Given the description of an element on the screen output the (x, y) to click on. 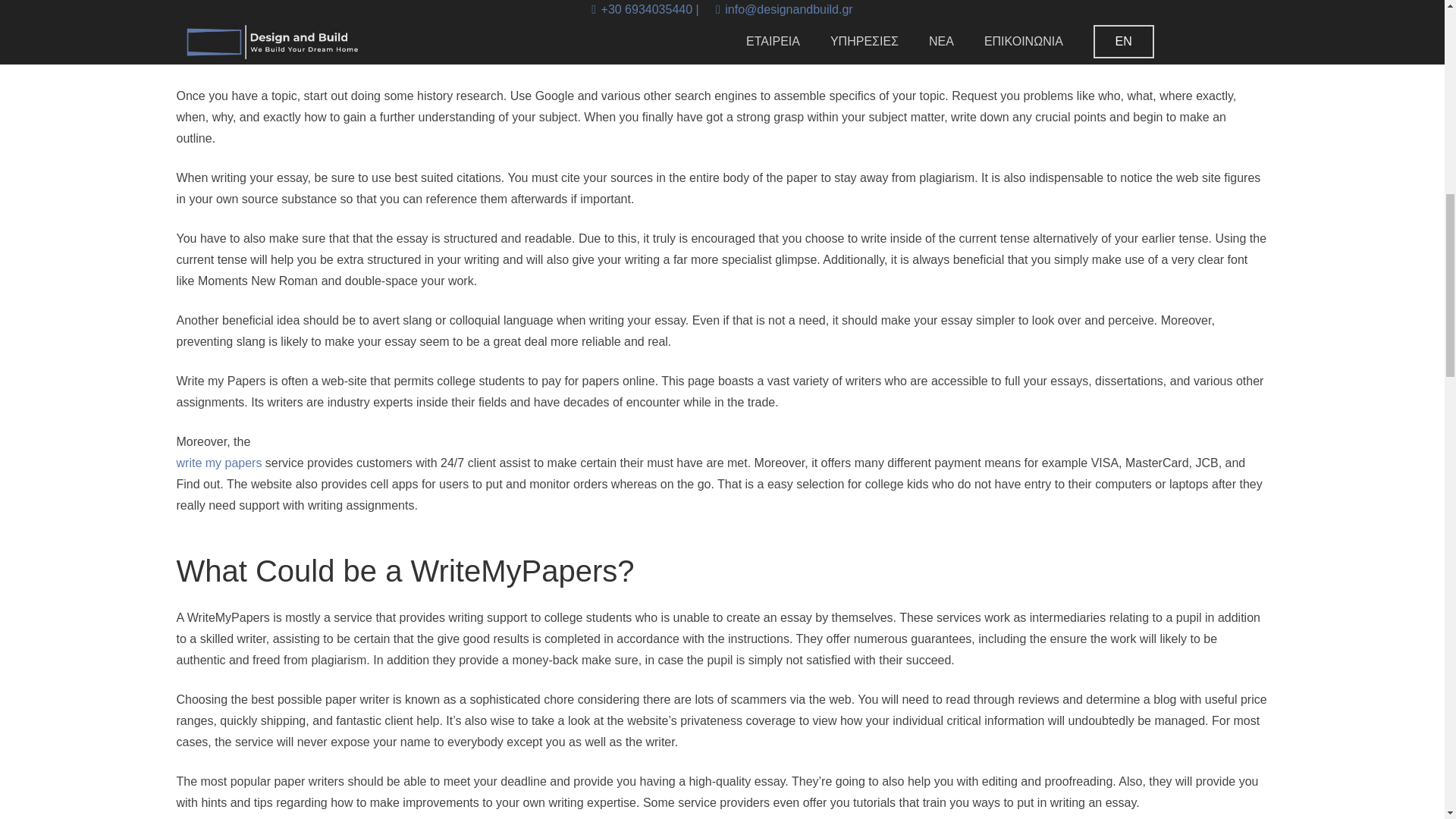
write my papers (219, 462)
Back to top (1413, 30)
